Given the description of an element on the screen output the (x, y) to click on. 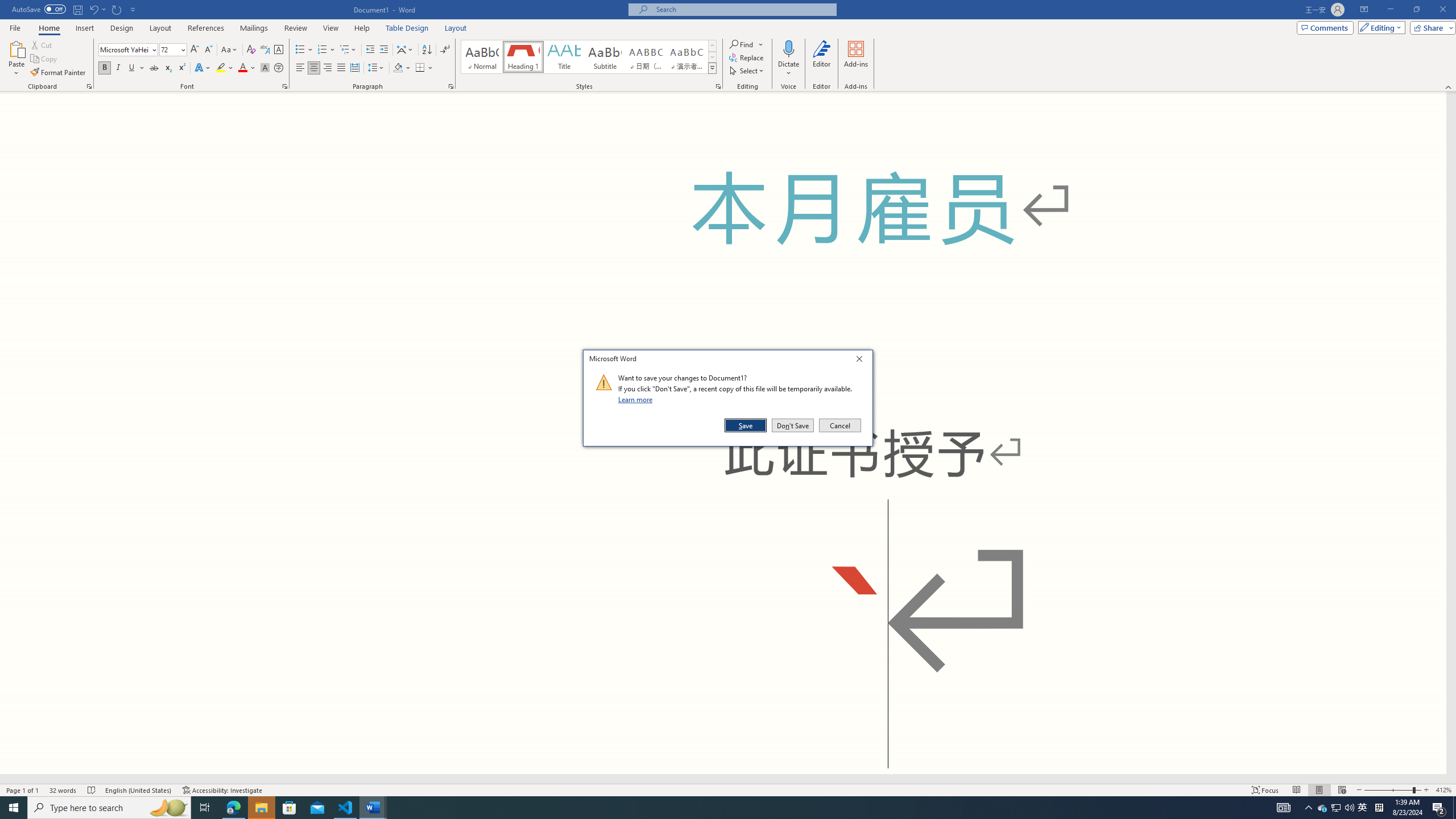
Word Count 32 words (63, 790)
